Given the description of an element on the screen output the (x, y) to click on. 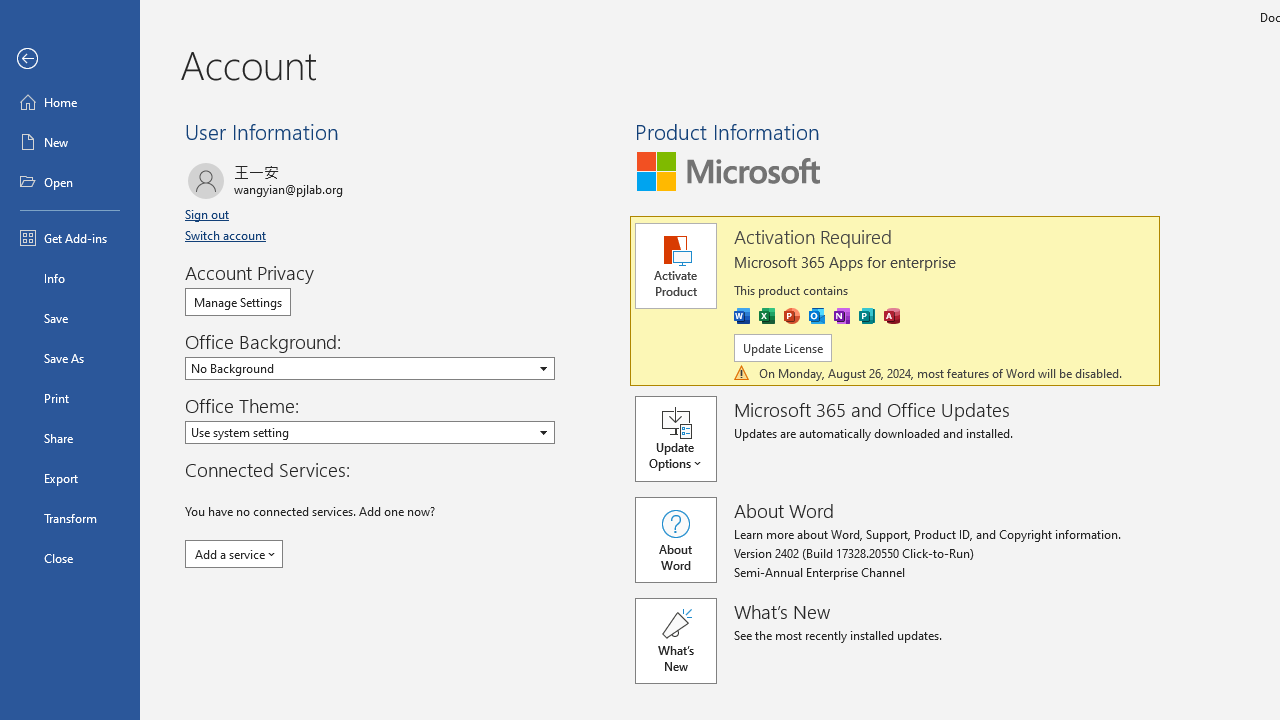
New (69, 141)
Activate Product (675, 265)
Print (69, 398)
Switch account (227, 235)
Office Theme (370, 432)
Update Options (683, 438)
About Word (675, 539)
Office Background (370, 368)
OneNote (841, 316)
Publisher (866, 316)
Excel (766, 316)
